Given the description of an element on the screen output the (x, y) to click on. 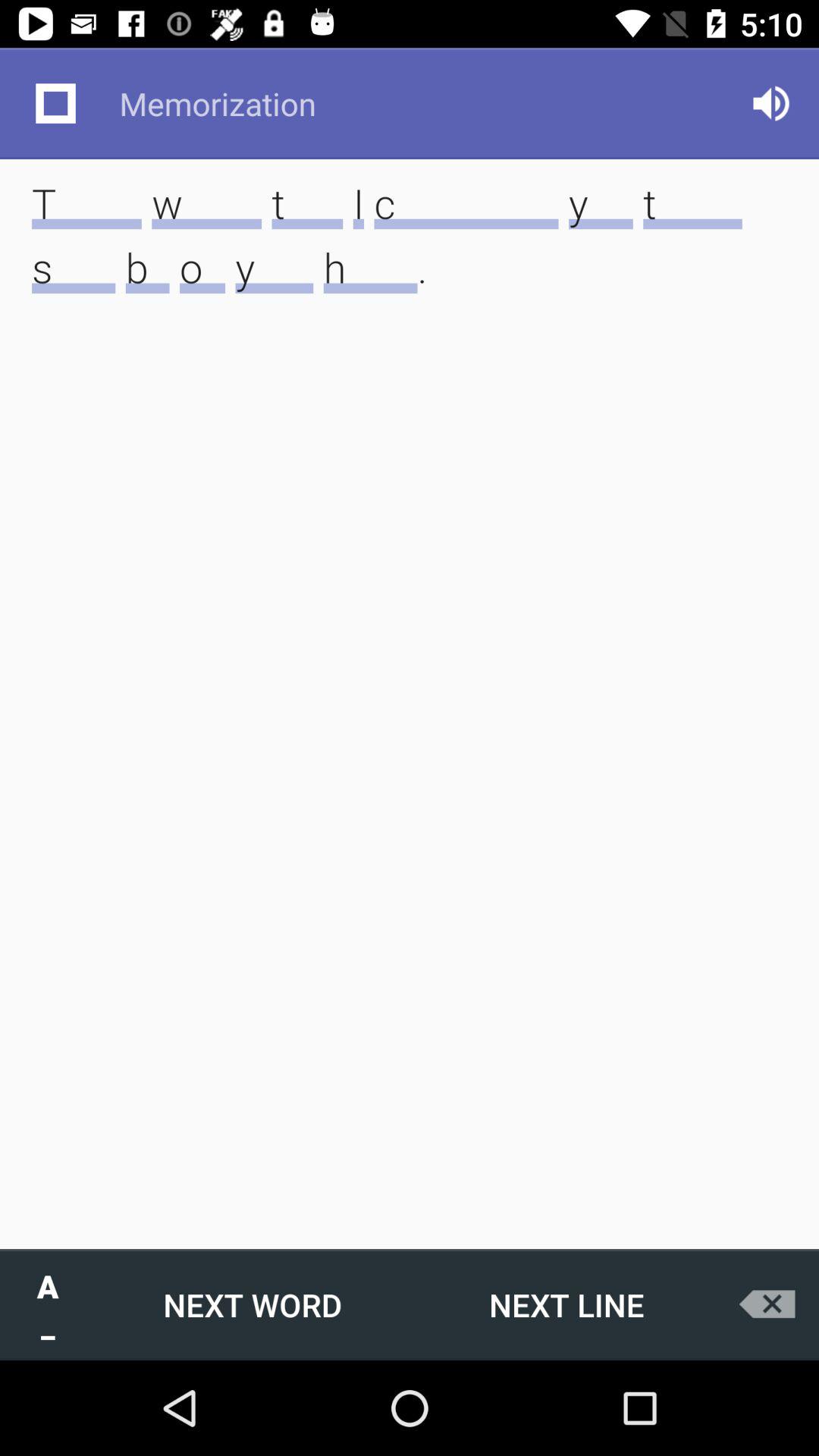
launch item below these words that item (252, 1304)
